Given the description of an element on the screen output the (x, y) to click on. 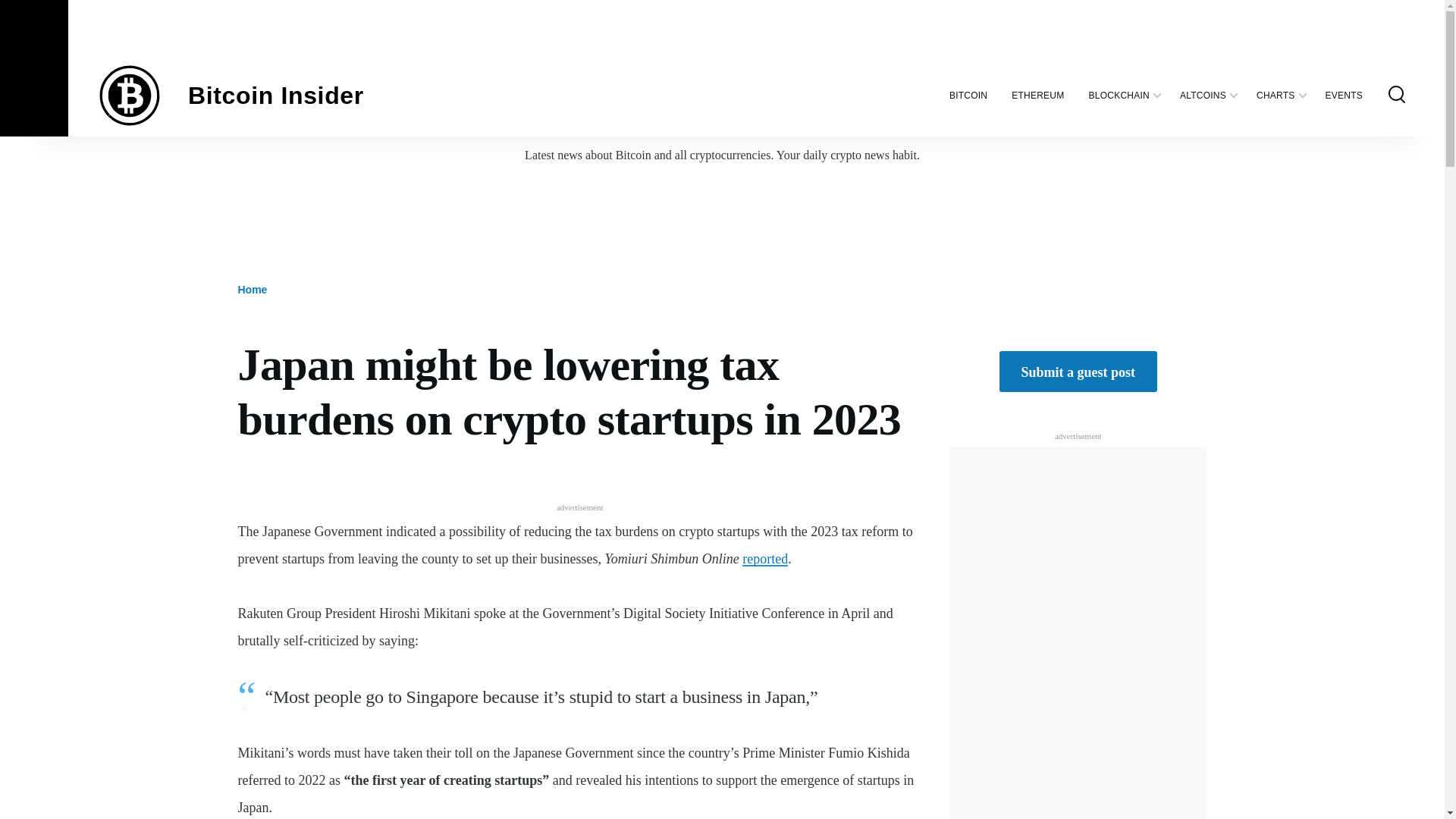
Bitcoin Insider (275, 94)
Home (275, 94)
Skip to main content (595, 6)
